Given the description of an element on the screen output the (x, y) to click on. 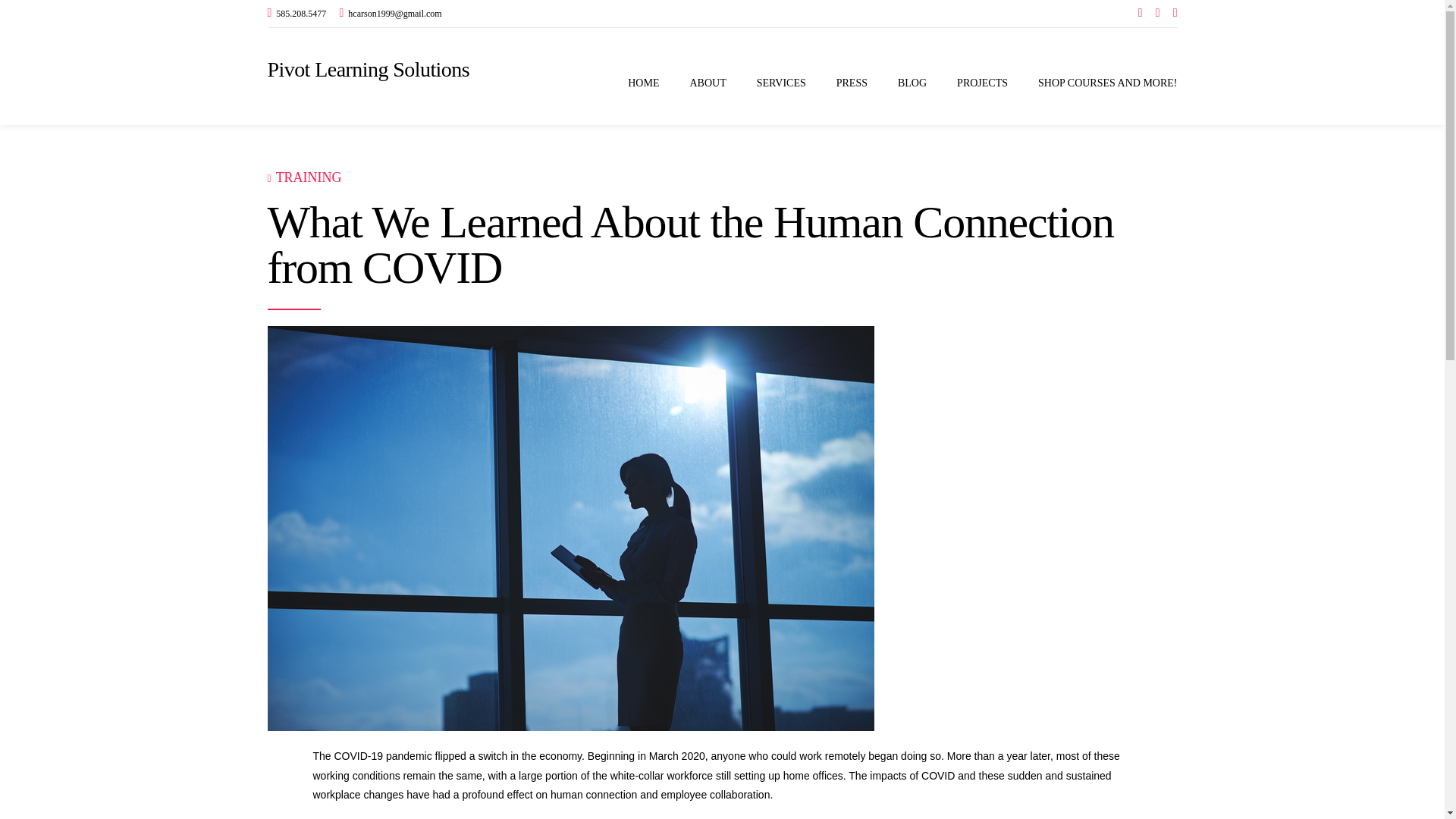
Pivot Learning Solutions (367, 69)
TRAINING (309, 177)
SHOP COURSES AND MORE! (1107, 83)
585.208.5477 (296, 13)
